Given the description of an element on the screen output the (x, y) to click on. 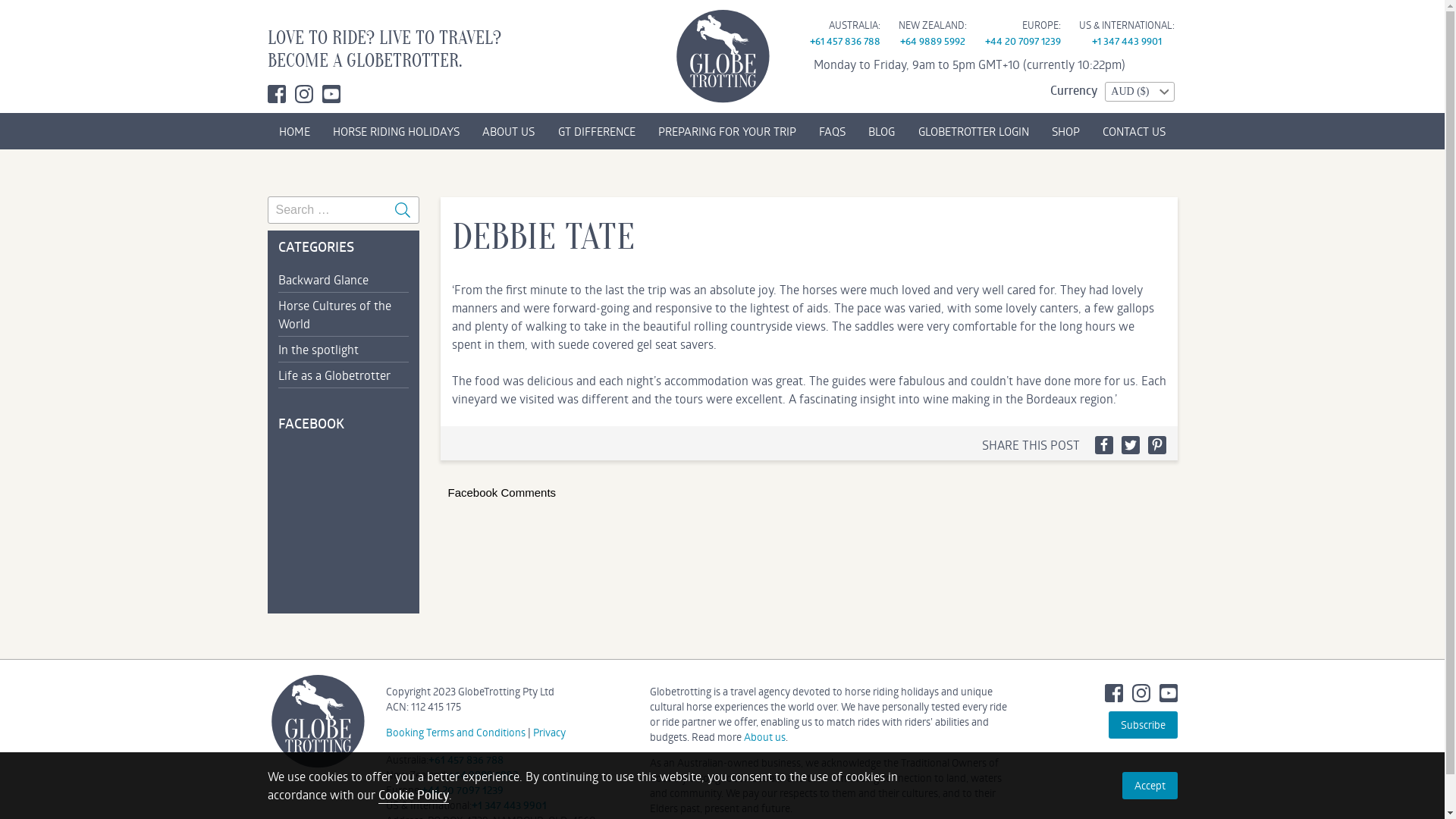
+1 347 443 9901 Element type: text (508, 804)
Booking Terms and Conditions Element type: text (454, 731)
Globetrotting Element type: hover (721, 56)
Search Element type: text (402, 209)
HORSE RIDING HOLIDAYS Element type: text (395, 130)
HOME Element type: text (293, 130)
+61 457 836 788 Element type: text (844, 40)
GT DIFFERENCE Element type: text (596, 130)
CONTACT US Element type: text (1133, 130)
Cookie Policy Element type: text (412, 794)
FAQS Element type: text (831, 130)
+64 9889 5992 Element type: text (482, 774)
PREPARING FOR YOUR TRIP Element type: text (726, 130)
AUD ($) Element type: text (1138, 91)
+64 9889 5992 Element type: text (931, 40)
BLOG Element type: text (881, 130)
Youtube Element type: text (330, 93)
Go Element type: text (12, 7)
Facebook Element type: text (1113, 693)
Instagram Element type: text (1140, 693)
+44 20 7097 1239 Element type: text (462, 789)
+44 20 7097 1239 Element type: text (1022, 40)
ABOUT US Element type: text (508, 130)
+61 457 836 788 Element type: text (464, 759)
Share on Facebook Element type: hover (1104, 445)
Youtube Element type: text (1167, 693)
Life as a Globetrotter Element type: text (342, 374)
GLOBETROTTER LOGIN Element type: text (973, 130)
About us Element type: text (763, 736)
Subscribe Element type: text (1142, 724)
Share on Pinterest Element type: hover (1157, 445)
Globetrotting Element type: hover (316, 721)
Accept Element type: text (1149, 785)
SHOP Element type: text (1065, 130)
Privacy Element type: text (548, 731)
Share on Twitter Element type: hover (1129, 445)
Facebook Element type: text (275, 93)
Backward Glance Element type: text (342, 278)
In the spotlight Element type: text (342, 348)
Instagram Element type: text (303, 93)
+1 347 443 9901 Element type: text (1126, 40)
Horse Cultures of the World Element type: text (342, 313)
